Given the description of an element on the screen output the (x, y) to click on. 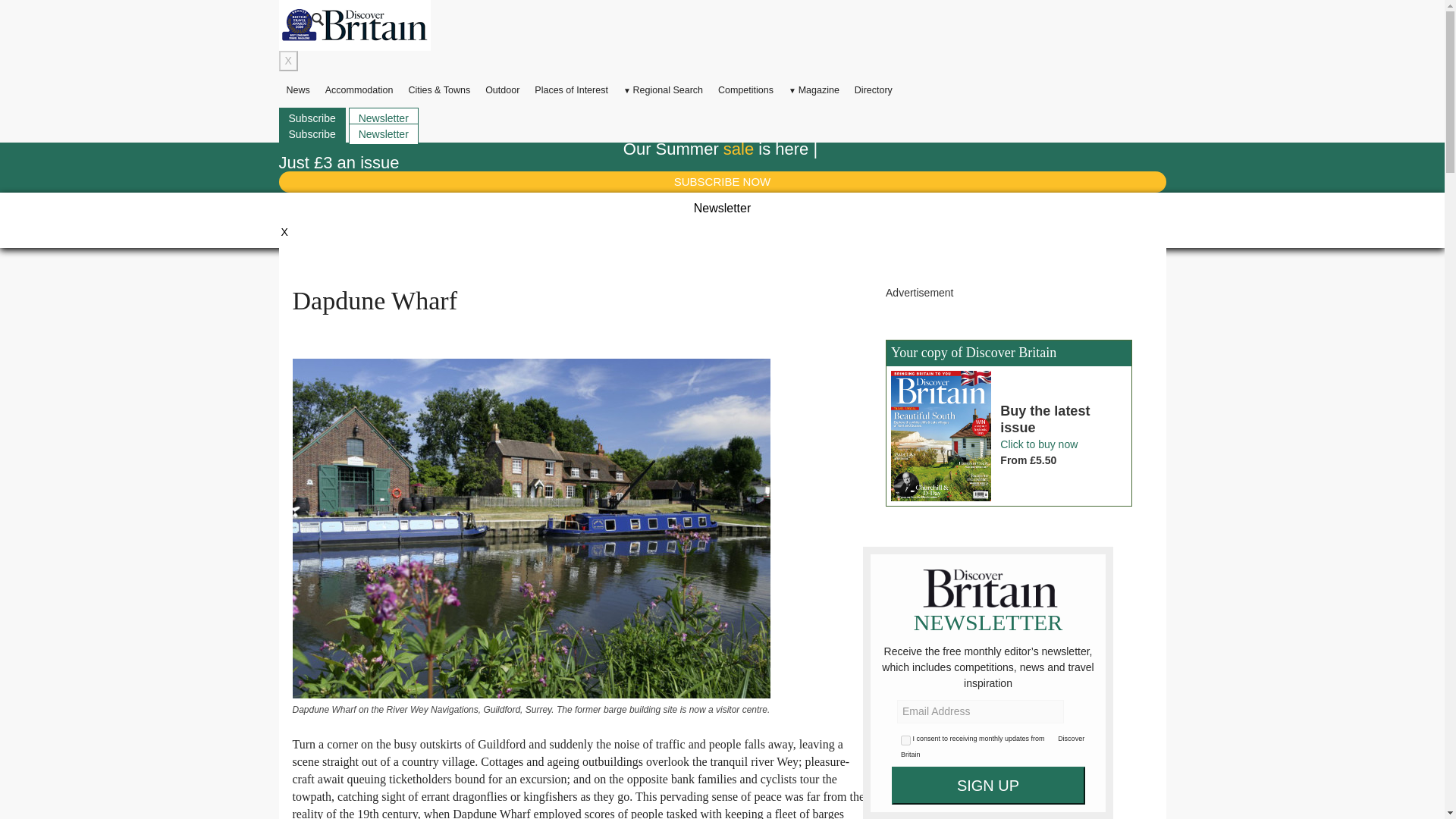
Regional Search (662, 90)
X (288, 60)
Newsletter (384, 133)
Places of Interest (571, 90)
Magazine (813, 90)
on (906, 740)
Competitions (745, 90)
Subscribe (312, 133)
Accommodation (359, 90)
News (298, 90)
Newsletter (384, 117)
Outdoor (502, 90)
SIGN UP (987, 785)
Subscribe (312, 117)
